Given the description of an element on the screen output the (x, y) to click on. 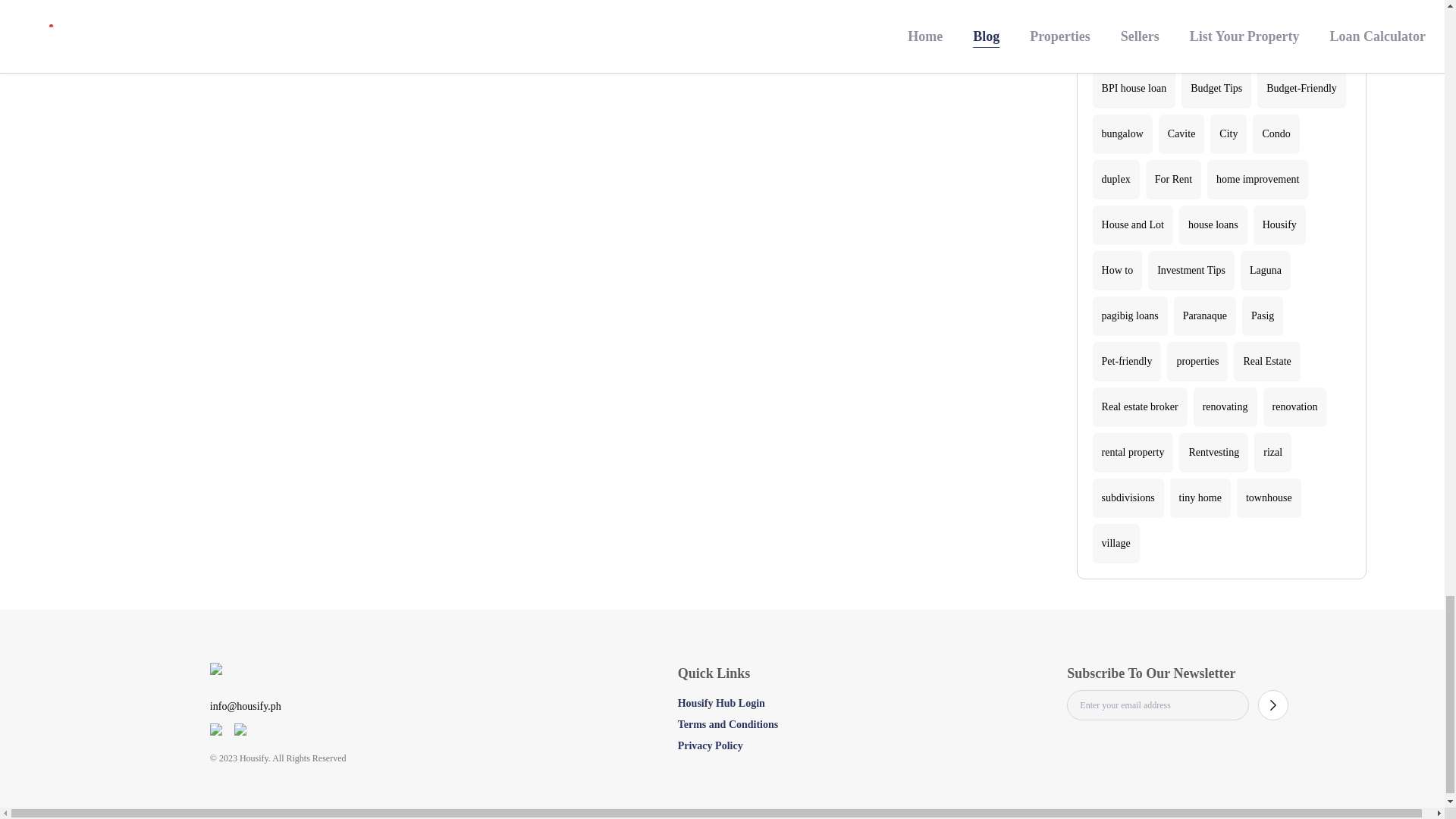
home page (277, 677)
Housify Hub Login (721, 703)
Privacy Policy (710, 745)
Terms and Conditions (728, 724)
